Given the description of an element on the screen output the (x, y) to click on. 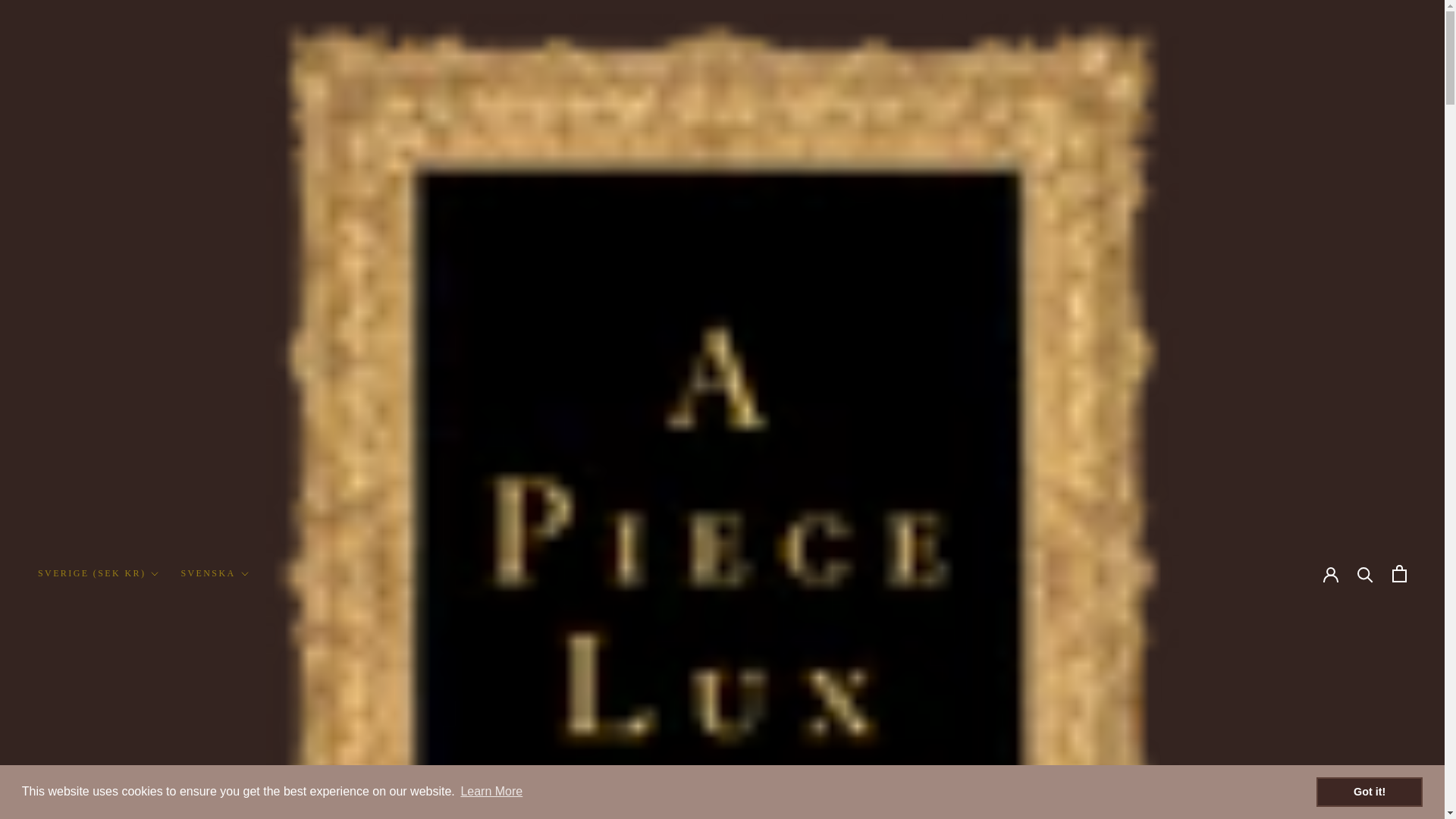
Learn More (491, 791)
Got it! (1369, 791)
